Given the description of an element on the screen output the (x, y) to click on. 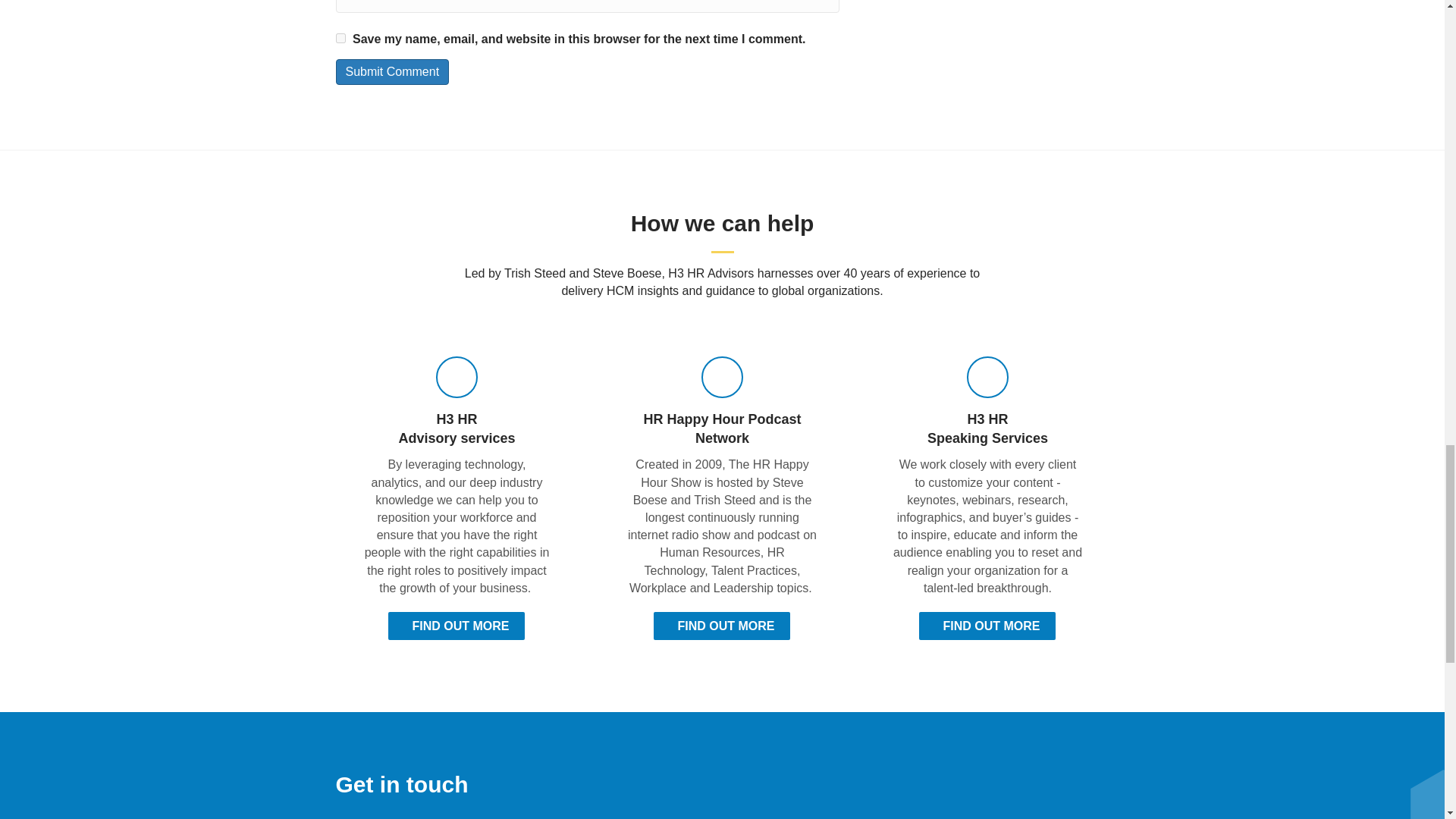
Submit Comment (391, 71)
Submit Comment (391, 71)
yes (339, 38)
